Given the description of an element on the screen output the (x, y) to click on. 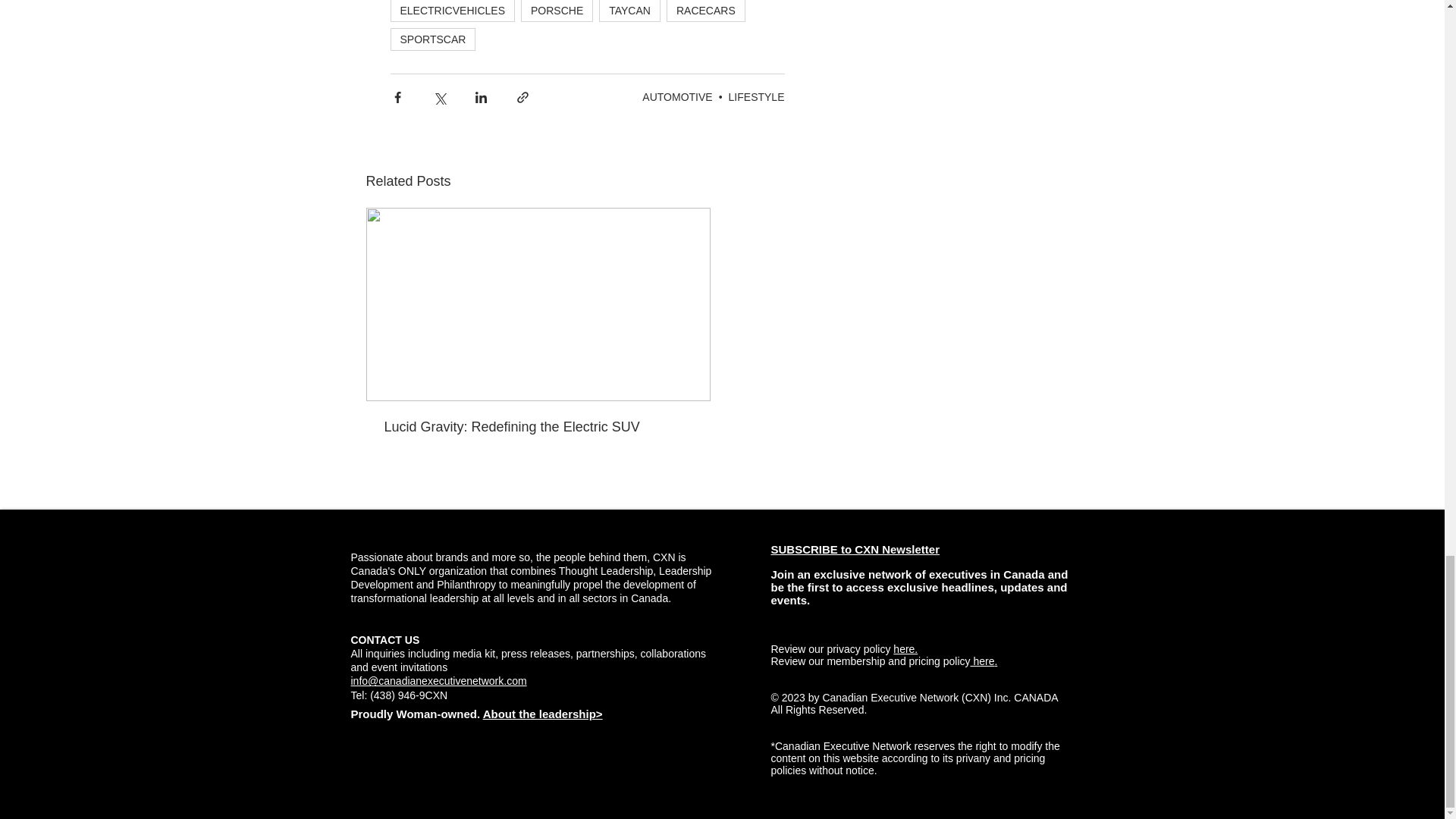
Lucid Gravity: Redefining the Electric SUV (537, 426)
AUTOMOTIVE (676, 96)
TAYCAN (629, 11)
SPORTSCAR (433, 38)
LIFESTYLE (756, 96)
RACECARS (705, 11)
ELECTRICVEHICLES (451, 11)
PORSCHE (556, 11)
